Given the description of an element on the screen output the (x, y) to click on. 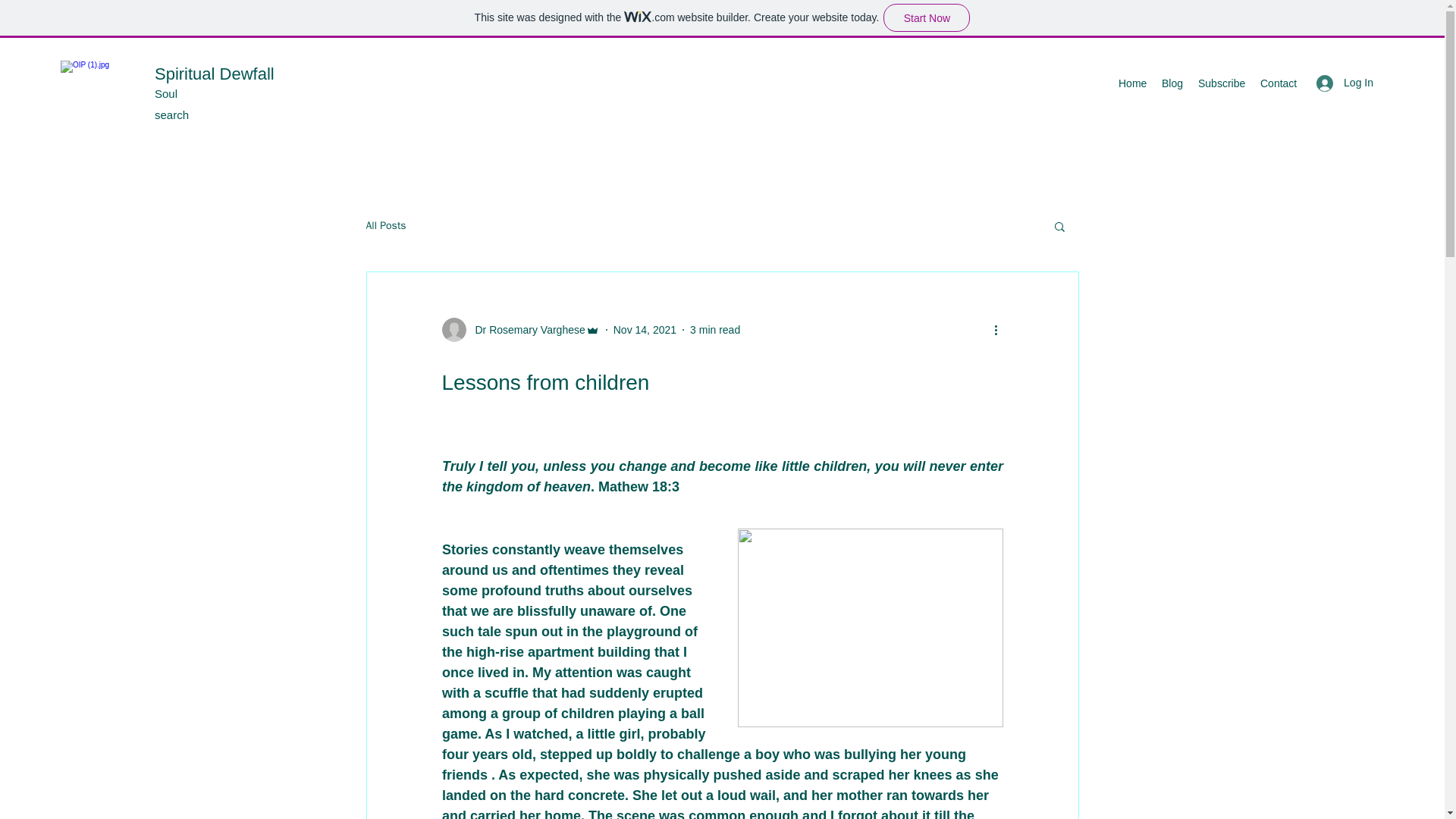
Home (1132, 83)
Subscribe (1221, 83)
Dr Rosemary Varghese (525, 330)
Log In (1345, 82)
Spiritual Dewfall (214, 73)
Dr Rosemary Varghese (519, 329)
Blog (1172, 83)
All Posts (385, 225)
Contact (1277, 83)
3 min read (714, 329)
